Given the description of an element on the screen output the (x, y) to click on. 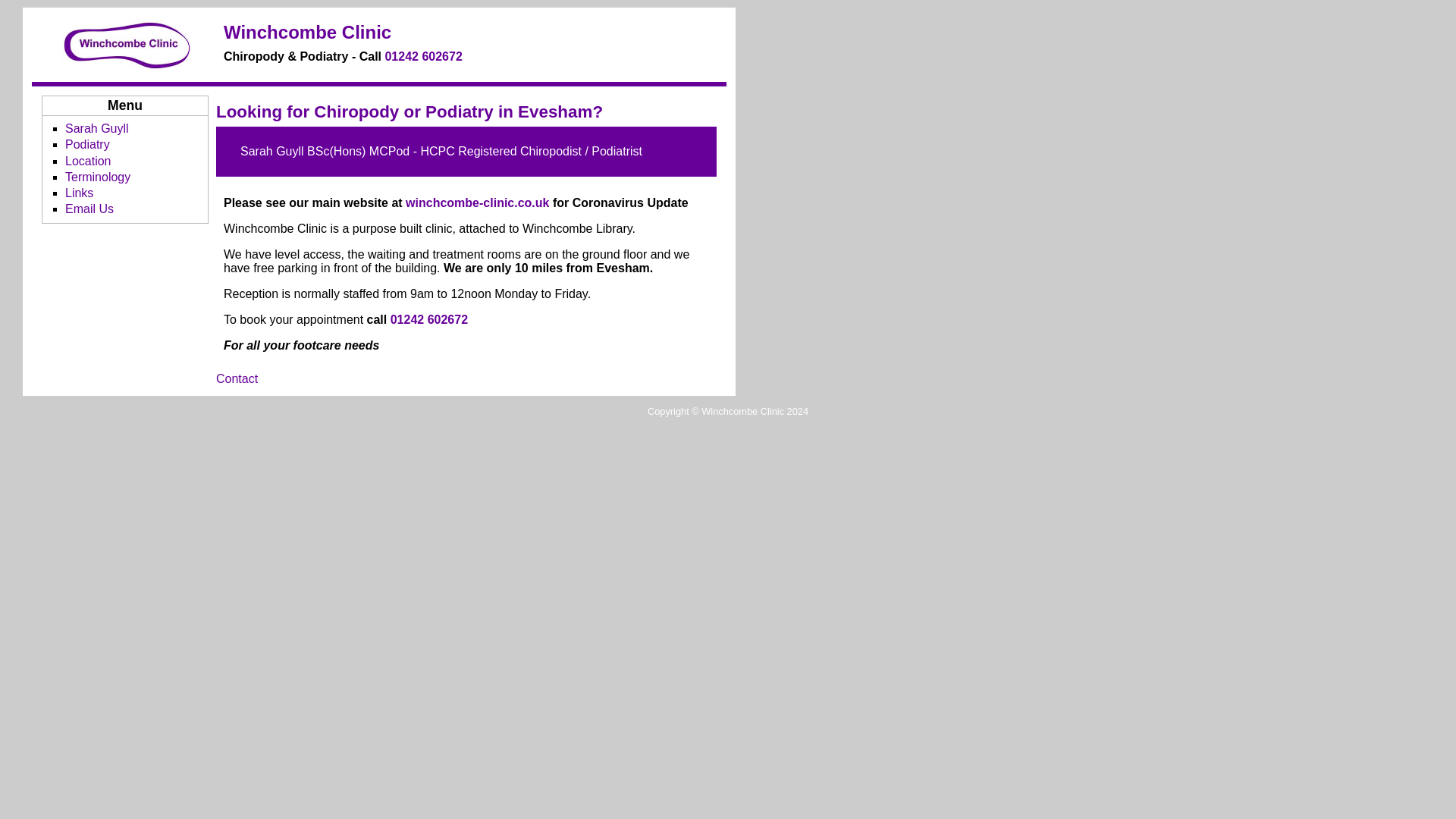
01242 602672 (428, 318)
Contact (236, 378)
Links (79, 192)
Terminology (98, 176)
Sarah Guyll (97, 128)
Location (88, 160)
winchcombe-clinic.co.uk (477, 202)
Contact us by email (89, 208)
Winchcombe Clinic (307, 32)
How to Find Winchcombe Clinic (88, 160)
Podiatry (87, 144)
01242 602672 (422, 56)
Email Us (89, 208)
Definition of some terms (98, 176)
Index Page (307, 32)
